Given the description of an element on the screen output the (x, y) to click on. 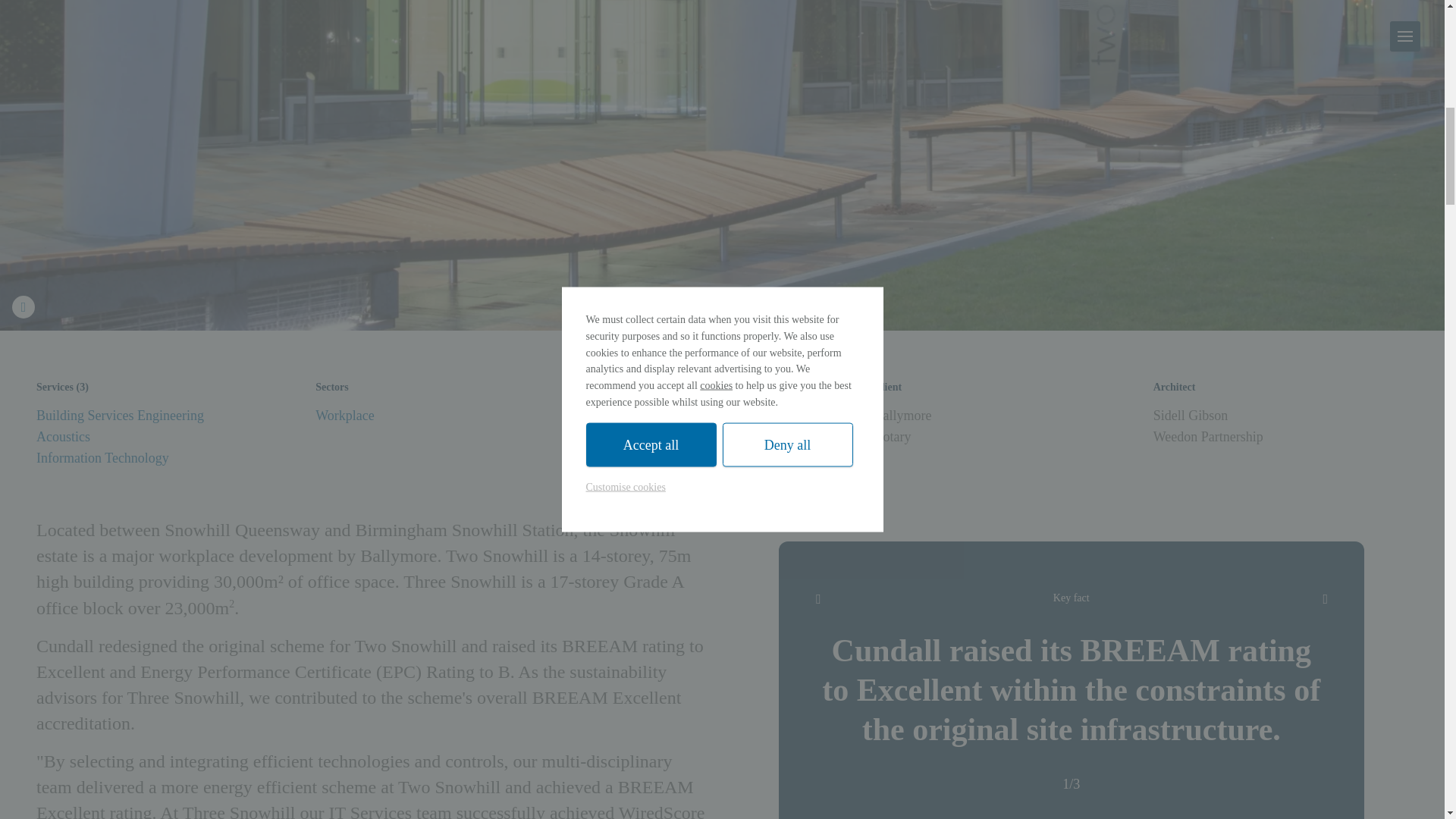
Information Technology (102, 458)
Workplace (344, 415)
Building Services Engineering (119, 415)
Acoustics (63, 436)
